Given the description of an element on the screen output the (x, y) to click on. 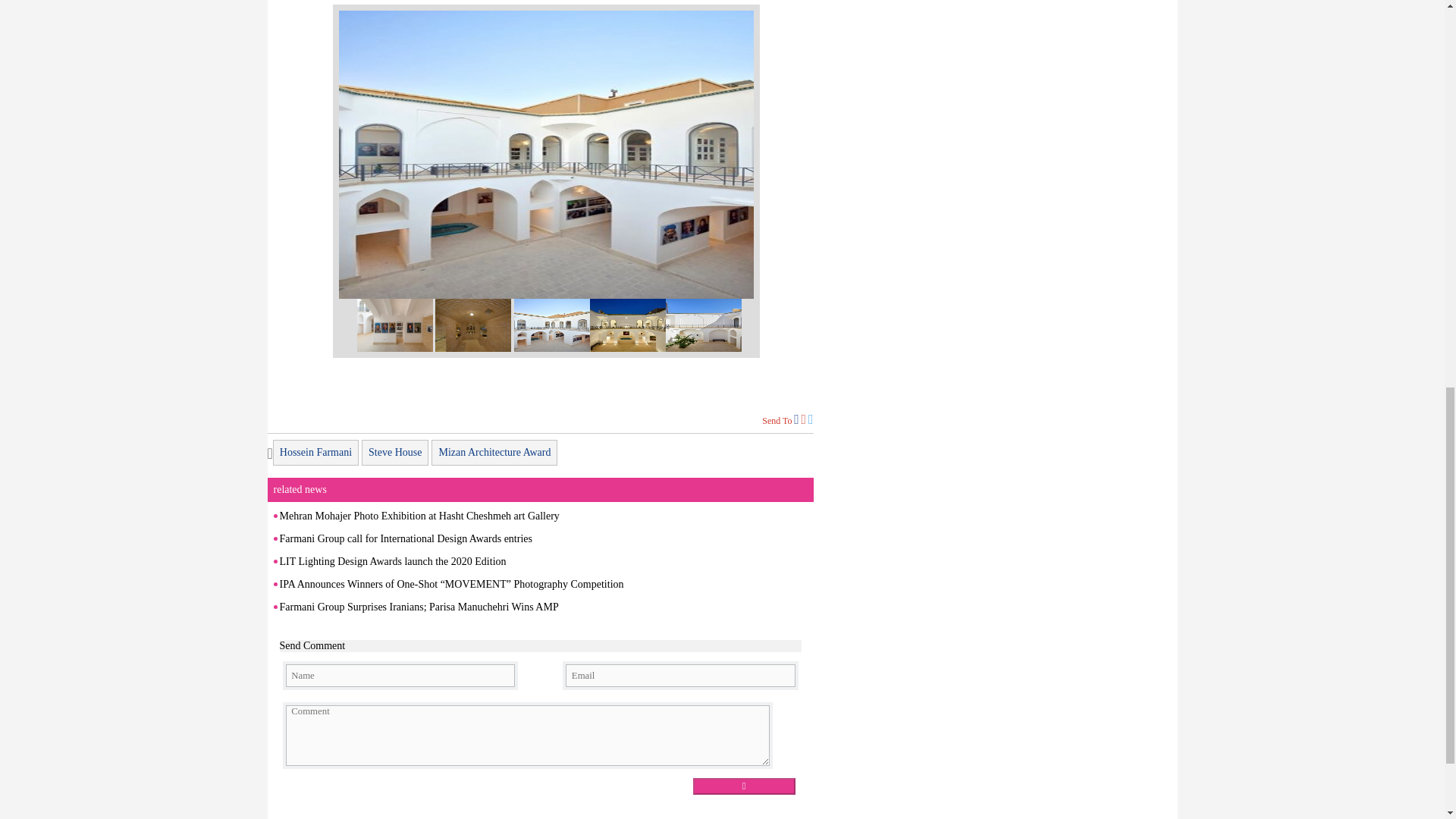
LIT Lighting Design Awards launch the 2020 Edition (392, 561)
Steve House (394, 452)
Farmani Group call for International Design Awards entries (405, 538)
Hossein Farmani (315, 452)
submit (743, 786)
Farmani Group call for International Design Awards entries (405, 538)
Mizan Architecture Award (493, 452)
Hossein Farmani (315, 452)
Farmani Group Surprises Iranians; Parisa Manuchehri Wins AMP (418, 606)
Steve House (394, 452)
Farmani Group Surprises Iranians; Parisa Manuchehri Wins AMP (418, 606)
Mizan Architecture Award (493, 452)
LIT Lighting Design Awards launch the 2020 Edition (392, 561)
